Given the description of an element on the screen output the (x, y) to click on. 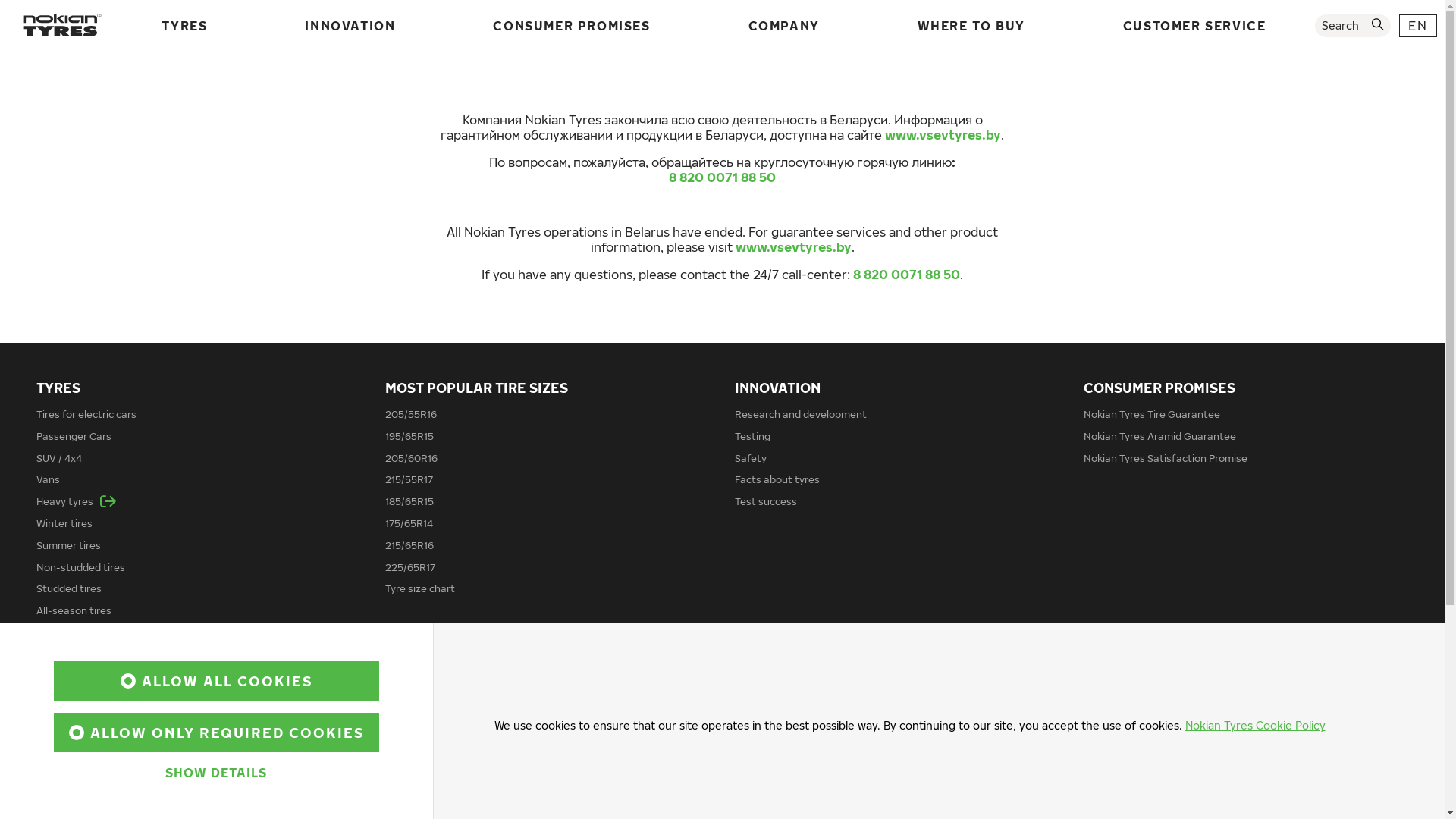
225/65R17 Element type: text (410, 567)
Newsroom Element type: text (61, 790)
Summer tires Element type: text (68, 545)
www.vsevtyres.by Element type: text (793, 246)
Facebook Element type: text (1117, 768)
WHERE TO BUY Element type: text (971, 25)
INNOVATION Element type: text (776, 387)
205/60R16 Element type: text (411, 457)
For dealers Element type: text (411, 724)
ALLOW ALL COOKIES Element type: text (216, 680)
8 820 0071 88 50 Element type: text (721, 177)
TYRES Element type: text (184, 25)
www.vsevtyres.by Element type: text (942, 134)
Non-studded tires Element type: text (80, 567)
Careers Element type: text (55, 724)
175/65R14 Element type: text (409, 523)
Test success Element type: text (765, 501)
COMPANY Element type: text (70, 675)
WHERE TO BUY Element type: text (436, 675)
205/55R16 Element type: text (410, 413)
Importers Element type: text (408, 702)
Twitter Element type: text (1111, 724)
Winter tires Element type: text (64, 523)
COMPANY Element type: text (783, 25)
Nokian Tyres Cookie Policy Element type: text (1254, 724)
Tires for electric cars Element type: text (86, 413)
SHOW DETAILS Element type: text (215, 772)
Tyre size chart Element type: text (420, 588)
Vans Element type: text (47, 479)
Search Element type: text (1352, 25)
Studded tires Element type: text (68, 588)
SUV / 4x4 Element type: text (58, 457)
215/65R16 Element type: text (409, 545)
Nokian Tyres Satisfaction Promise Element type: text (1165, 457)
Passenger Cars Element type: text (73, 435)
8 820 0071 88 50 Element type: text (906, 274)
For media Element type: text (59, 811)
195/65R15 Element type: text (409, 435)
Youtube Element type: text (1114, 790)
ALLOW ONLY REQUIRED COOKIES Element type: text (216, 732)
Instagram Element type: text (1119, 746)
185/65R15 Element type: text (409, 501)
About Us Element type: text (58, 702)
All-season tires Element type: text (73, 610)
CUSTOMER SERVICE Element type: text (1194, 25)
CONSUMER PROMISES Element type: text (1159, 387)
Safety Element type: text (749, 457)
TYRES Element type: text (58, 387)
Publications Element type: text (65, 768)
Car manufacturers Element type: text (82, 632)
Testing Element type: text (751, 435)
Heavy tyres Element type: text (76, 501)
CUSTOMER SERVICE Element type: text (803, 675)
Nokian Tyres Aramid Guarantee Element type: text (1159, 435)
Order releases Element type: text (1118, 811)
Nokian Tyres dealers Element type: text (434, 746)
Investors Element type: text (58, 746)
INNOVATION Element type: text (349, 25)
CONSUMER PROMISES Element type: text (570, 25)
Nokian Tyres Tire Guarantee Element type: text (1151, 413)
Feedback Element type: text (1106, 702)
CONTACT INFO Element type: text (1133, 675)
Research and development Element type: text (800, 413)
215/55R17 Element type: text (409, 479)
EN Element type: text (1417, 25)
Facts about tyres Element type: text (776, 479)
